Given the description of an element on the screen output the (x, y) to click on. 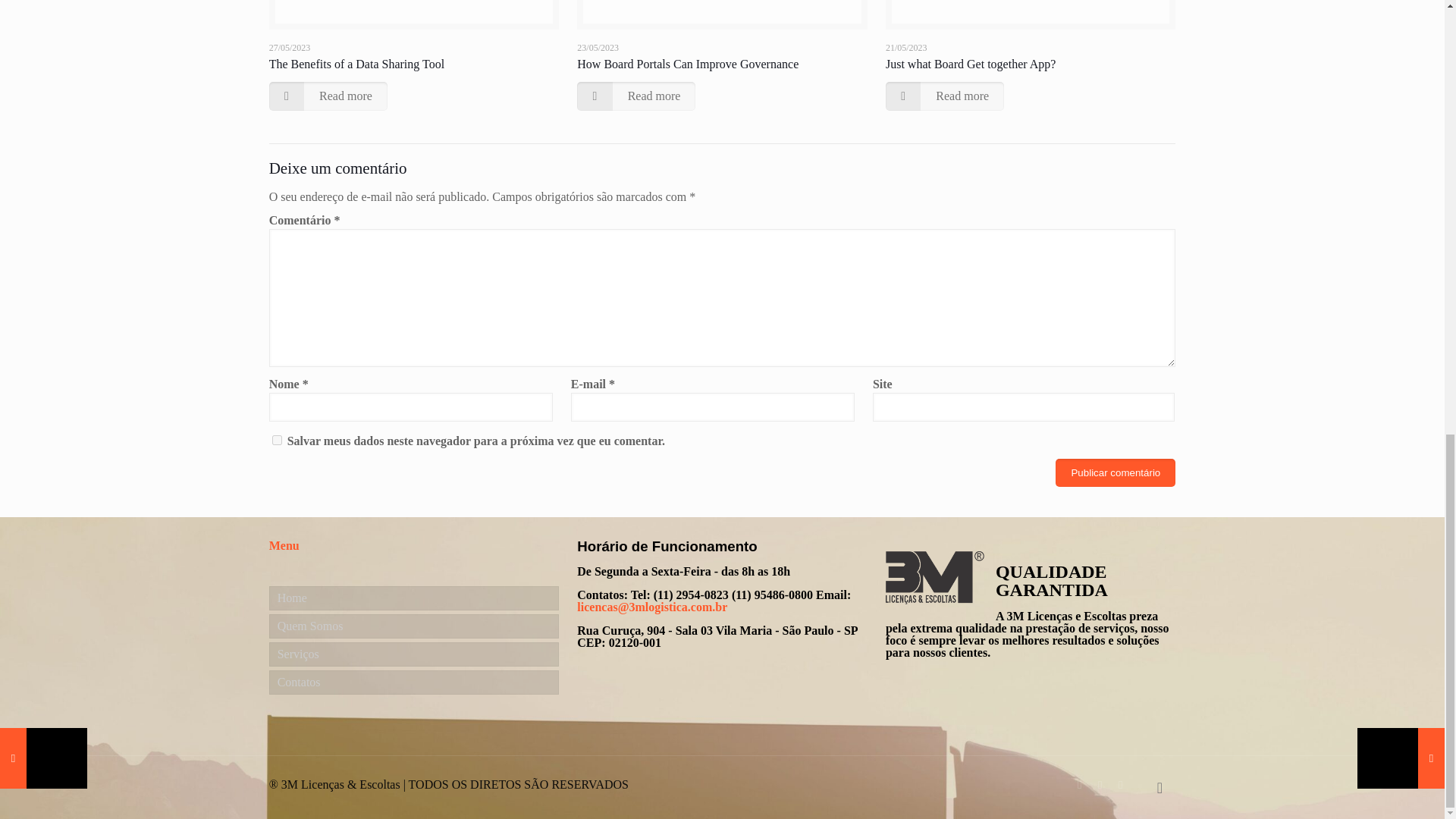
yes (277, 439)
Read more (944, 95)
Facebook (1100, 784)
Instagram (1120, 784)
WhatsApp (1079, 784)
Read more (328, 95)
Read more (635, 95)
The Benefits of a Data Sharing Tool (356, 63)
How Board Portals Can Improve Governance (686, 63)
Just what Board Get together App? (970, 63)
